Given the description of an element on the screen output the (x, y) to click on. 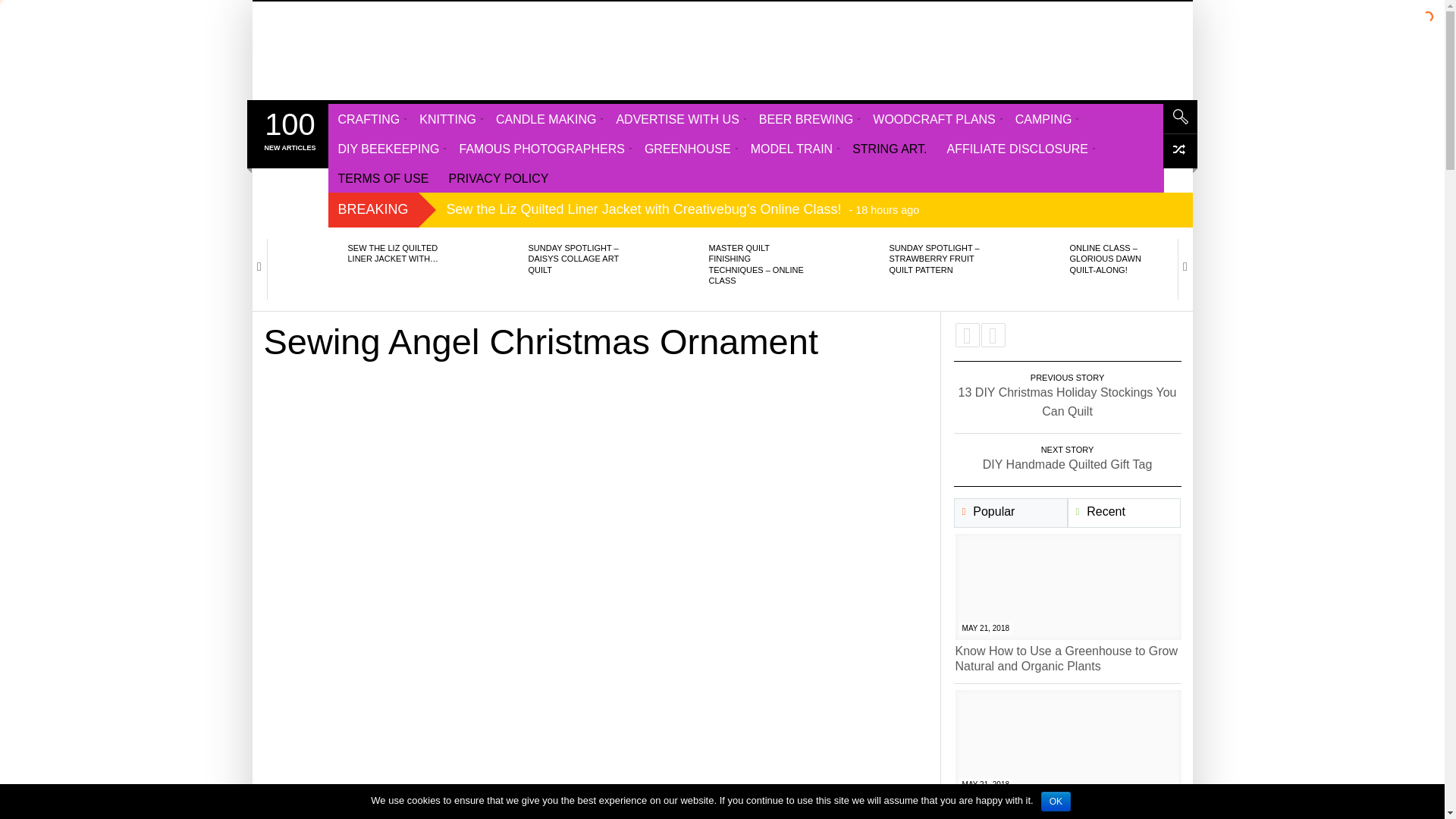
CANDLE MAKING (545, 118)
Hobbies and crafts (338, 50)
CRAFTING (368, 118)
KNITTING (447, 118)
